Given the description of an element on the screen output the (x, y) to click on. 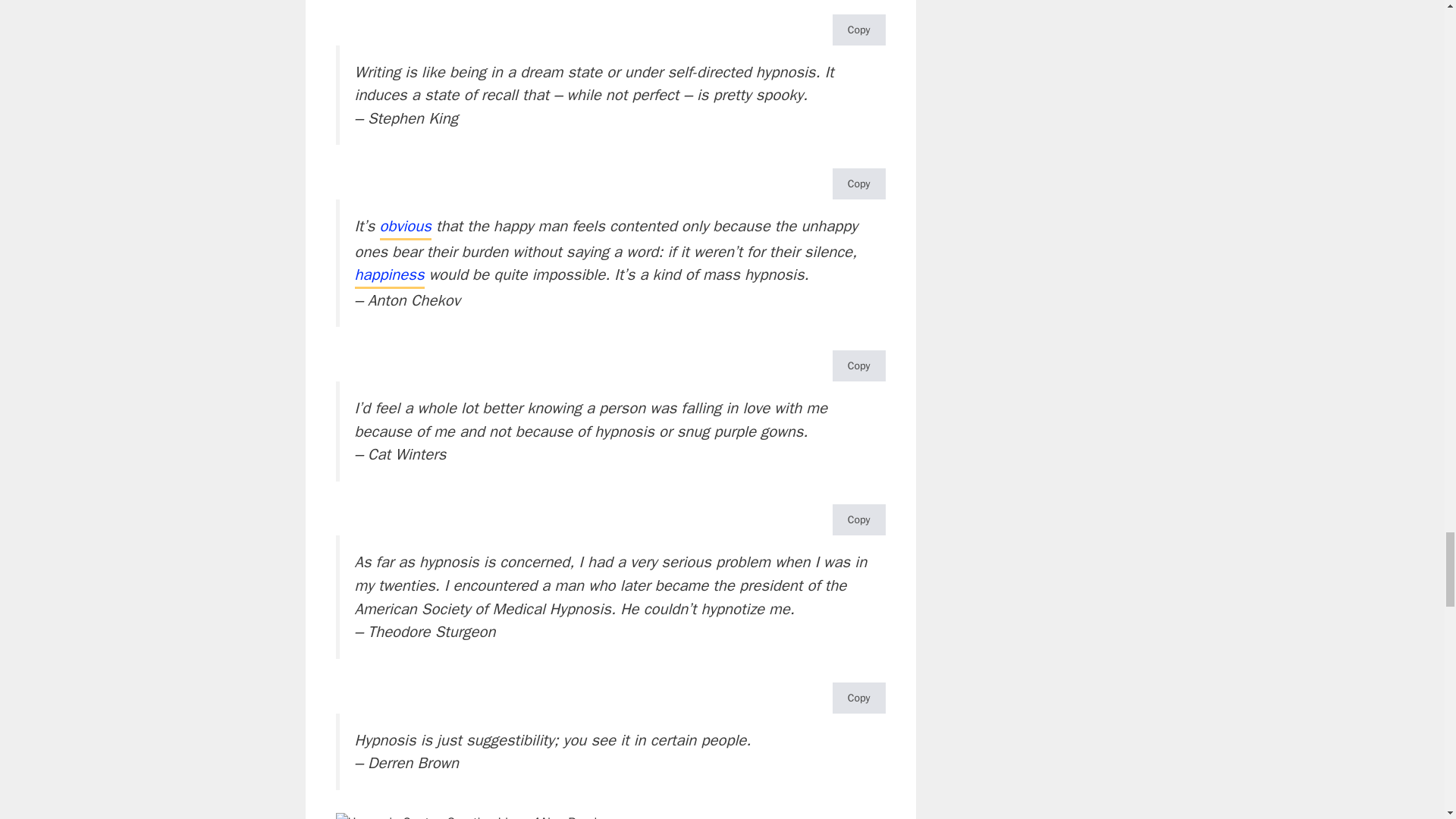
Copy (858, 519)
happiness (390, 275)
Copy (858, 29)
Copy (858, 697)
Copy (858, 183)
Copy (858, 365)
obvious (405, 227)
